Given the description of an element on the screen output the (x, y) to click on. 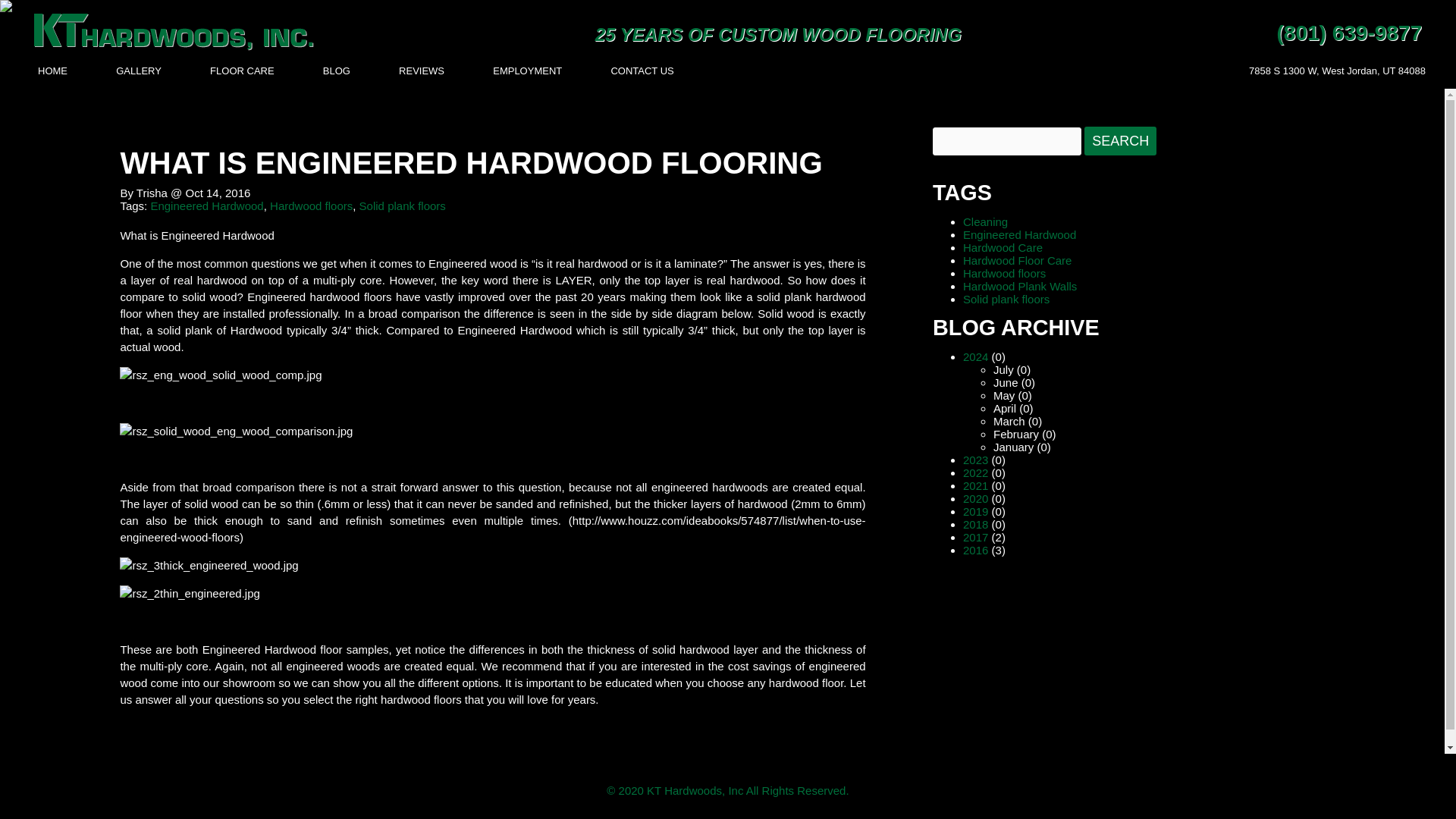
BLOG (336, 70)
FLOOR CARE (242, 70)
SEARCH (1120, 140)
Solid plank floors (1005, 298)
Solid plank floors (402, 205)
Engineered Hardwood (1018, 234)
Hardwood Floor Care (1016, 259)
CONTACT US (642, 70)
GALLERY (138, 70)
2021 (975, 485)
2024 (975, 356)
2016 (975, 549)
EMPLOYMENT (527, 70)
Hardwood floors (1003, 273)
2023 (975, 459)
